Given the description of an element on the screen output the (x, y) to click on. 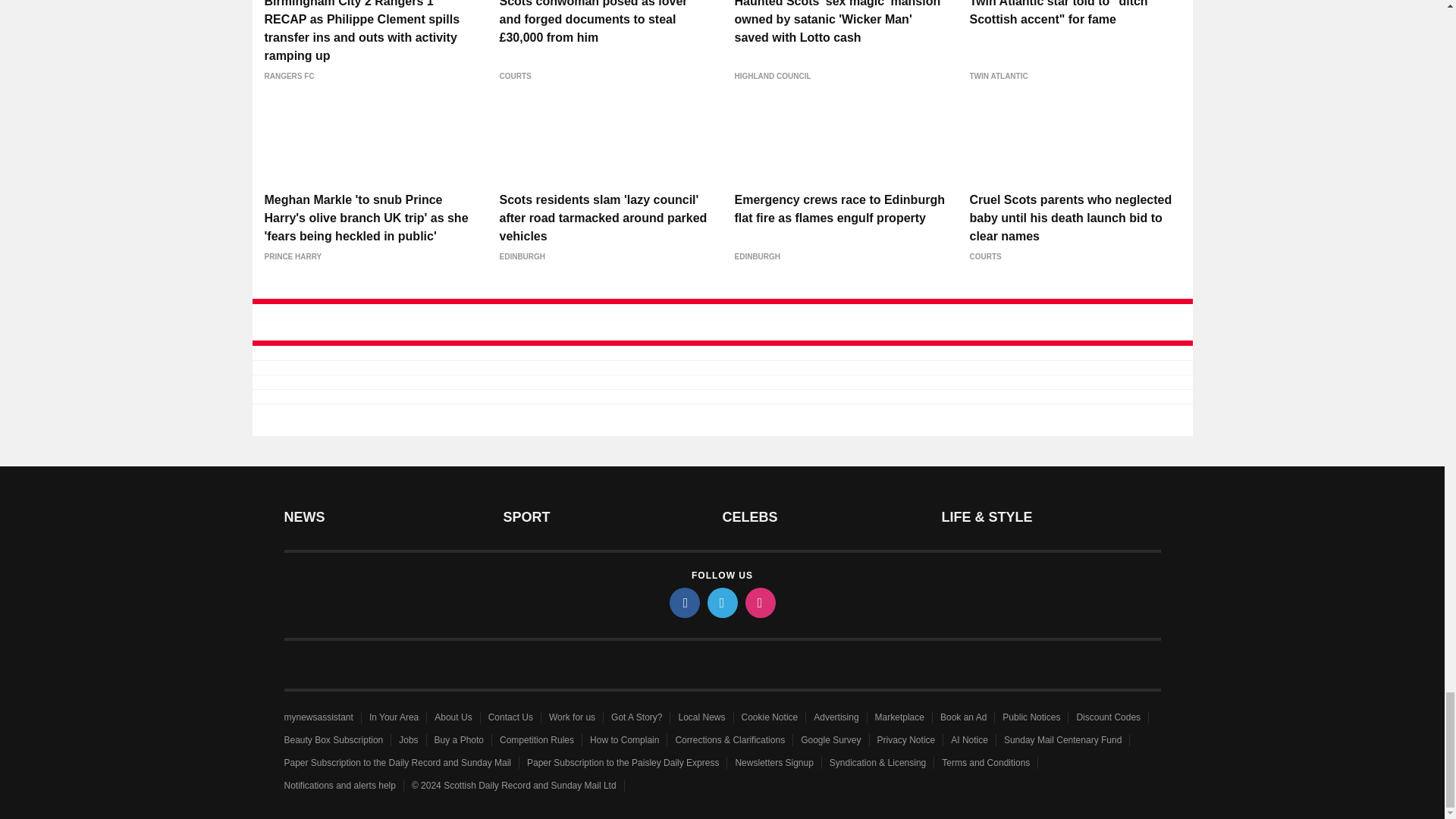
twitter (721, 603)
instagram (759, 603)
facebook (683, 603)
